Given the description of an element on the screen output the (x, y) to click on. 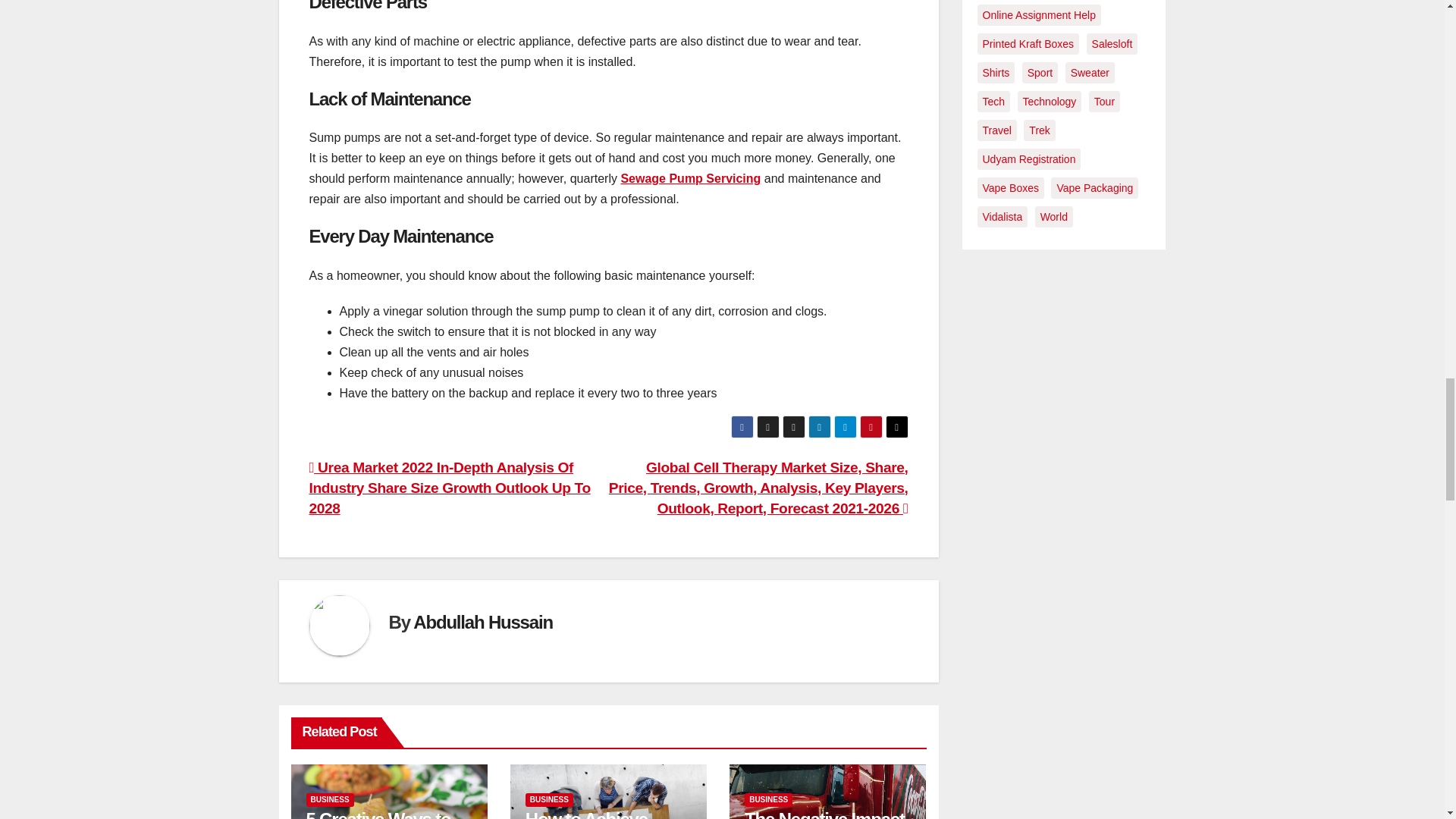
Sewage Pump Servicing (690, 178)
